Given the description of an element on the screen output the (x, y) to click on. 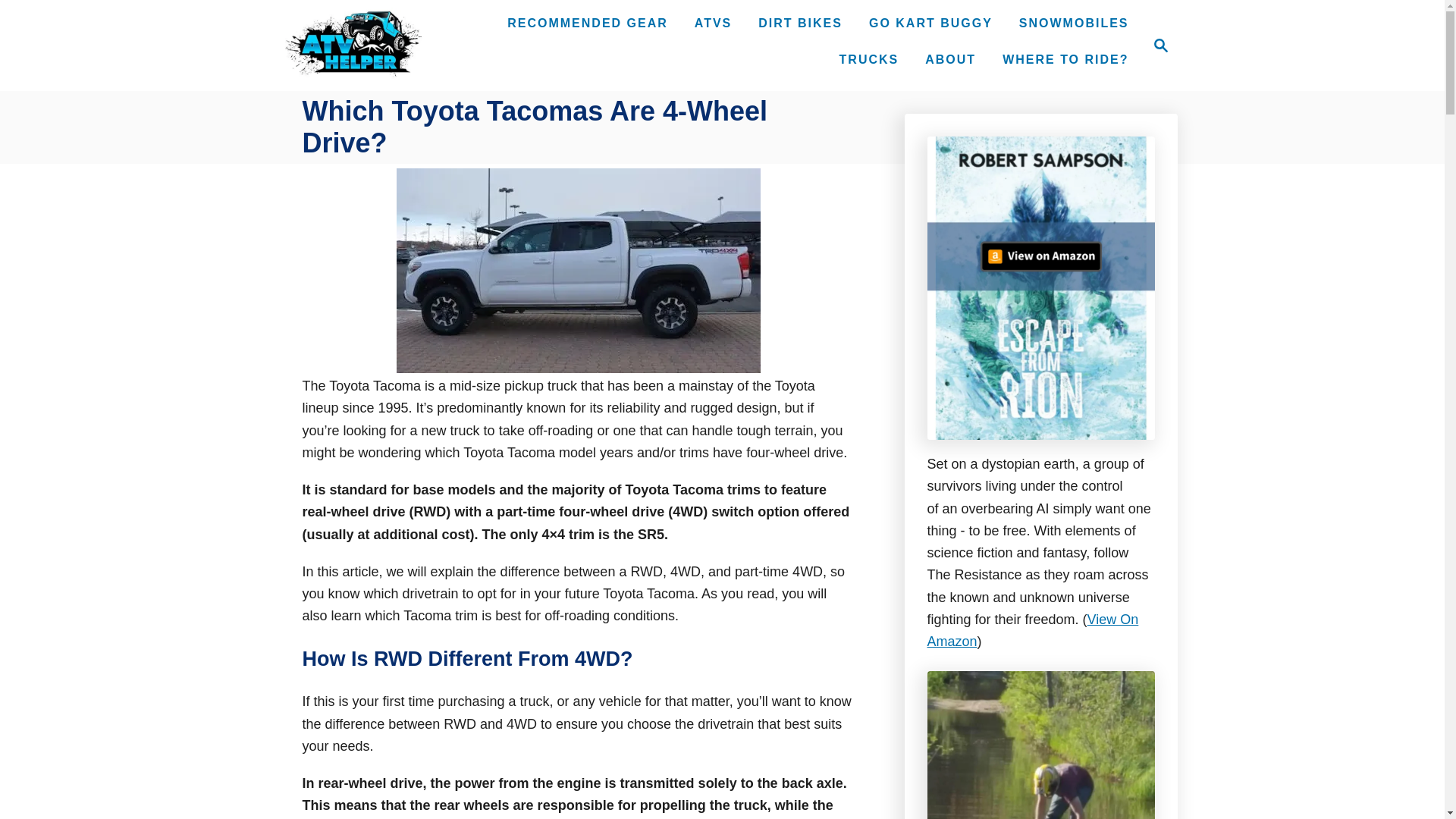
Magnifying Glass (1155, 45)
SNOWMOBILES (1160, 45)
RECOMMENDED GEAR (1074, 23)
TRUCKS (587, 23)
GO KART BUGGY (869, 59)
ABOUT (930, 23)
DIRT BIKES (950, 59)
View On Amazon (800, 23)
ATVS (1032, 630)
